Given the description of an element on the screen output the (x, y) to click on. 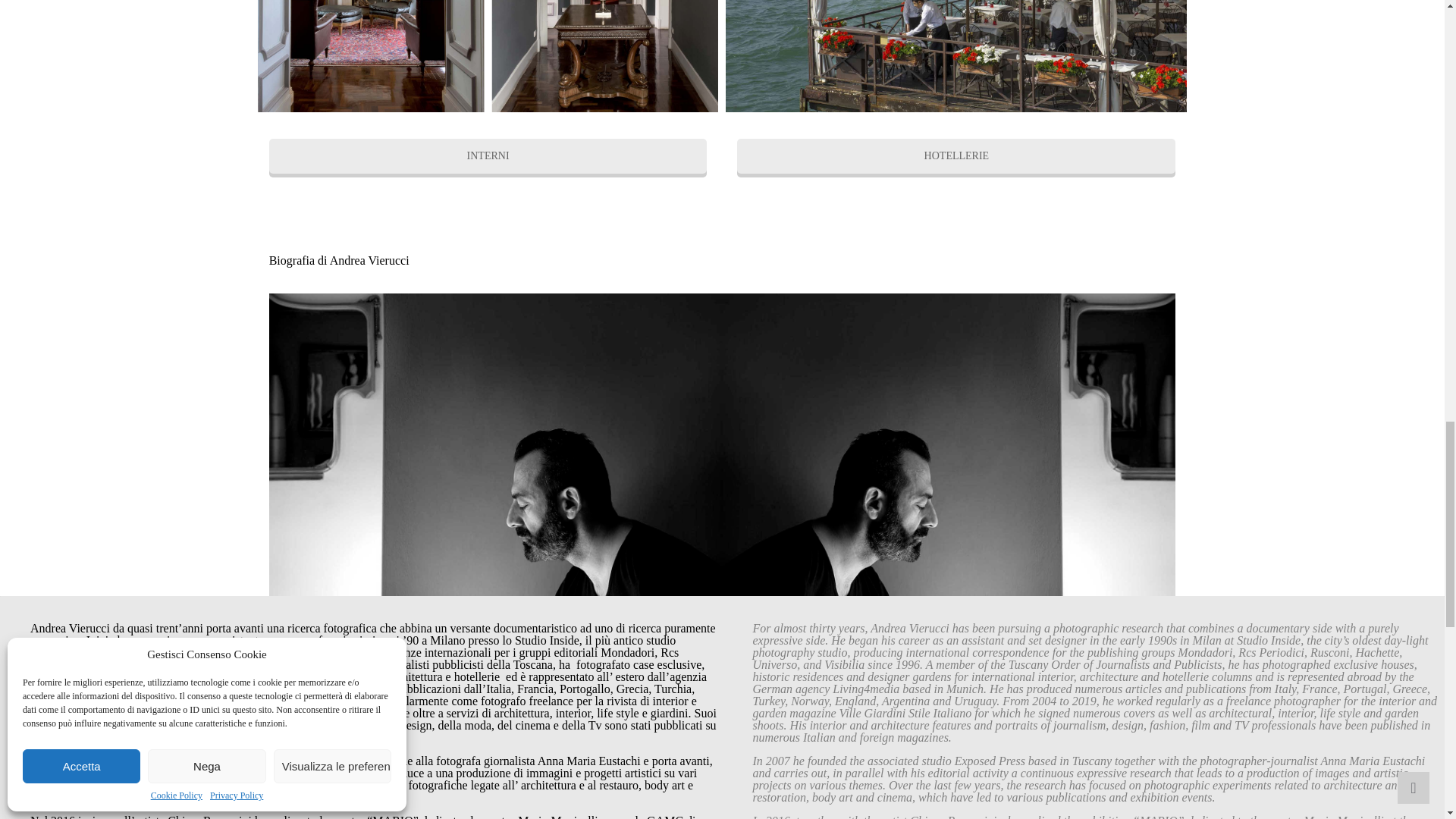
HOTELLERIE (955, 155)
INTERNI (488, 155)
